Given the description of an element on the screen output the (x, y) to click on. 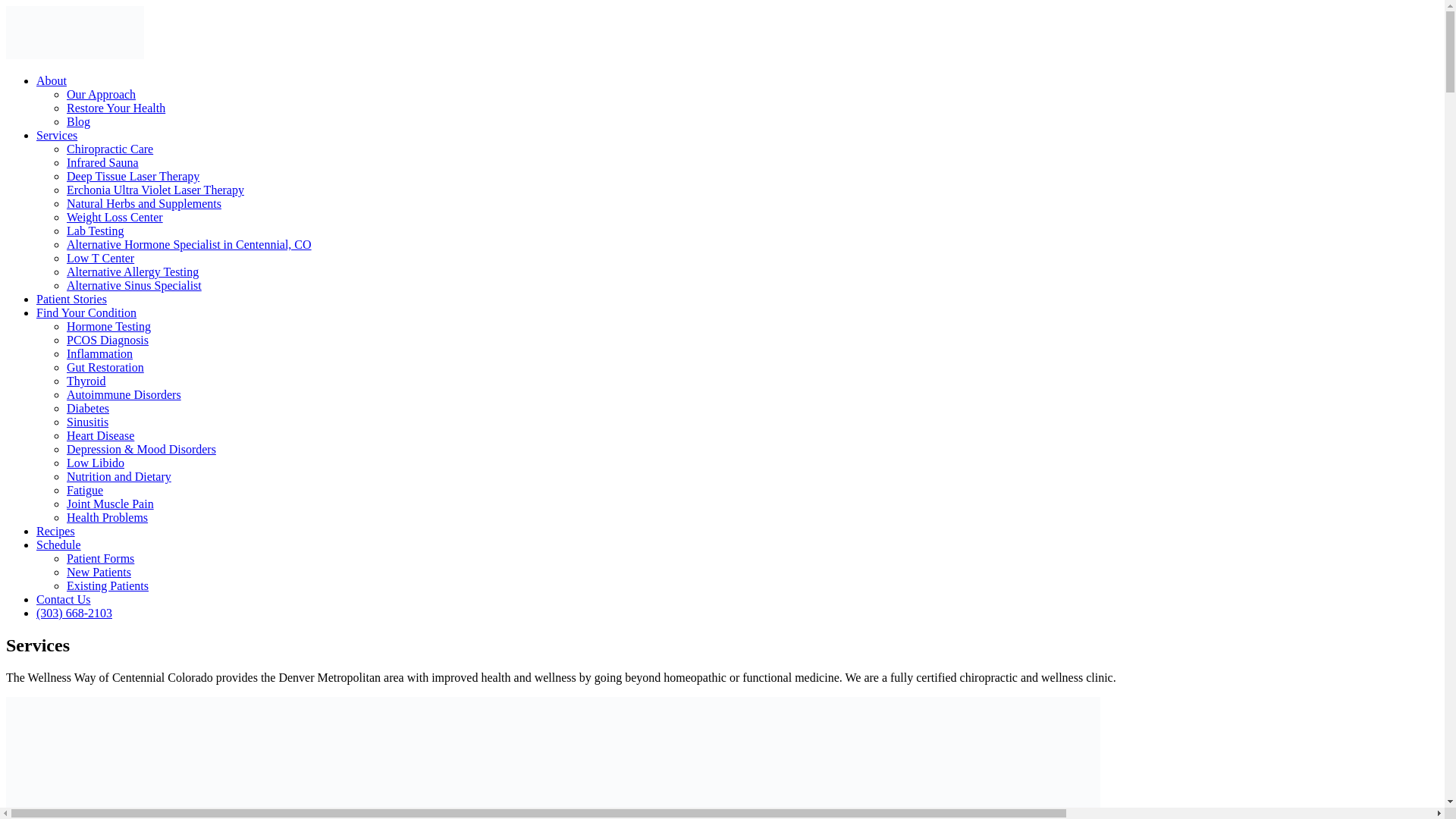
Health Problems (107, 517)
Weight Loss Center (114, 216)
Find Your Condition (86, 312)
Alternative Sinus Specialist (134, 285)
Inflammation (99, 353)
Low T Center (99, 257)
Erchonia Ultra Violet Laser Therapy (155, 189)
PCOS Diagnosis (107, 339)
About (51, 80)
Diabetes (87, 408)
Chiropractic Care (109, 148)
Restore Your Health (115, 107)
Schedule (58, 544)
Services (56, 134)
Gut Restoration (105, 367)
